Given the description of an element on the screen output the (x, y) to click on. 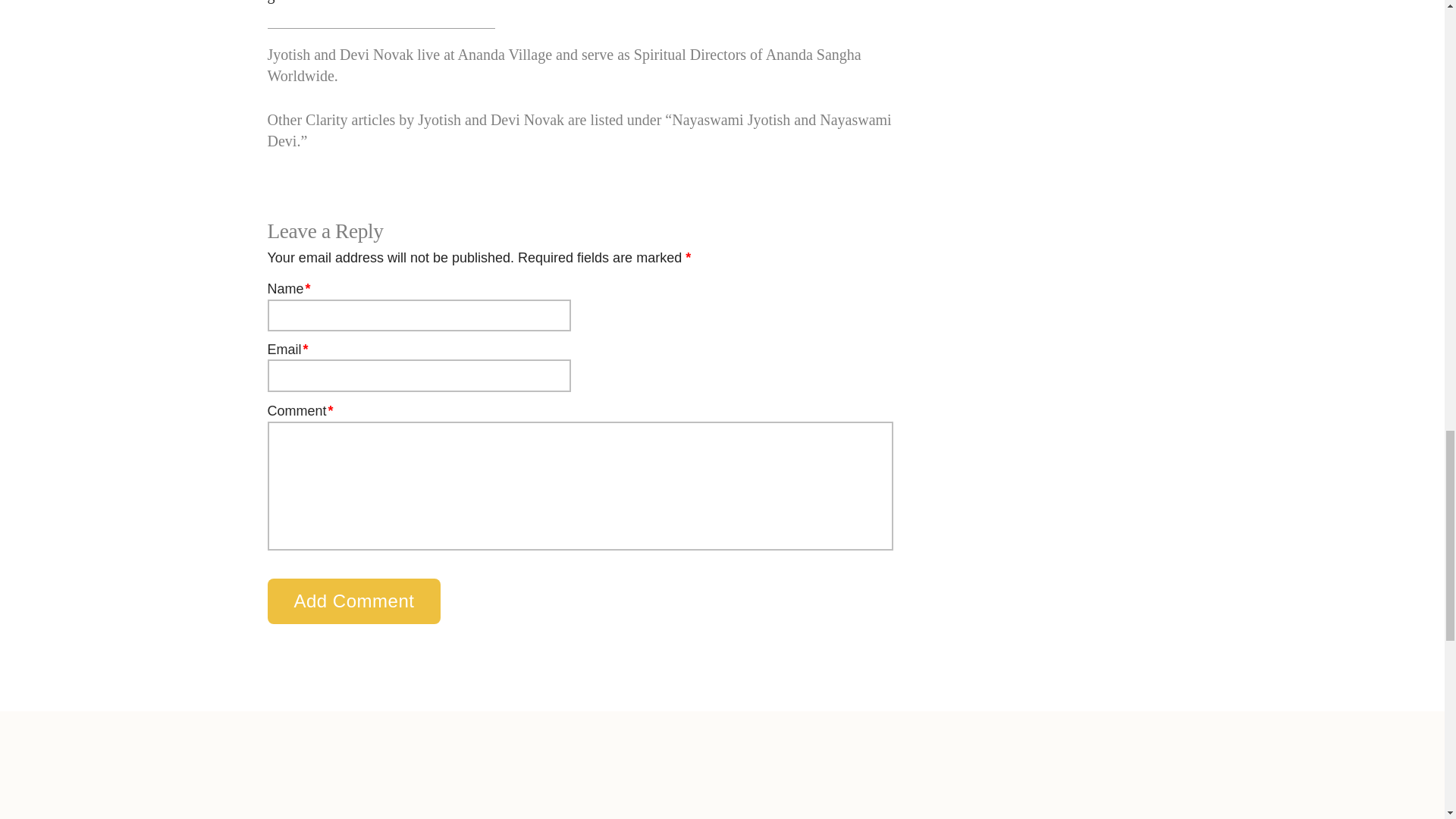
Add Comment (353, 601)
